Given the description of an element on the screen output the (x, y) to click on. 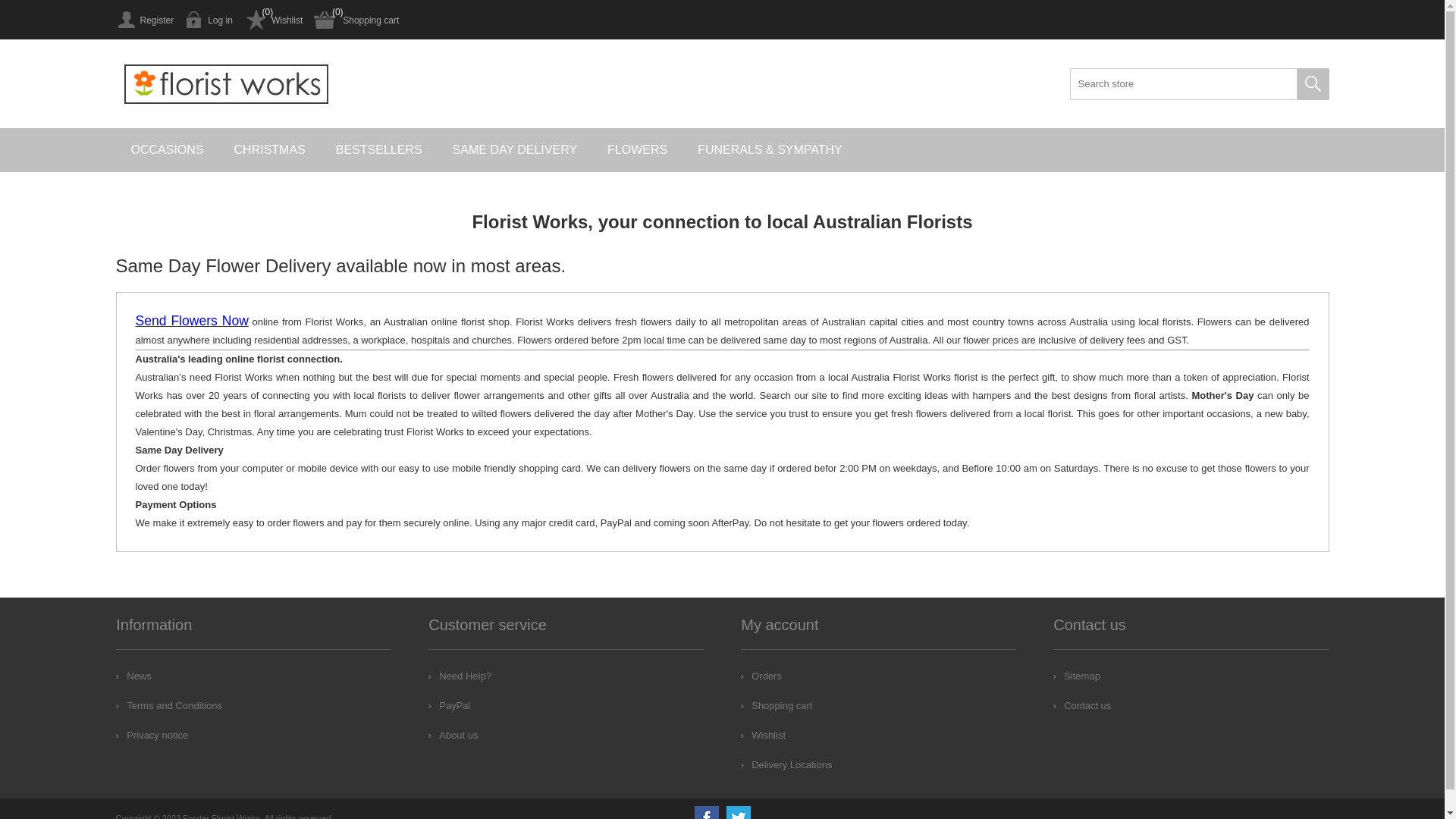
CHRISTMAS Element type: text (269, 150)
Terms and Conditions Element type: text (169, 705)
Wishlist Element type: text (762, 734)
Contact us Element type: text (1081, 705)
OCCASIONS Element type: text (166, 150)
Need Help? Element type: text (459, 675)
Search Element type: text (1312, 84)
Privacy notice Element type: text (152, 734)
Shopping cart Element type: text (776, 705)
Send Flowers Now Element type: text (190, 321)
Shopping cart Element type: text (355, 19)
Wishlist Element type: text (273, 19)
SAME DAY DELIVERY Element type: text (515, 150)
Delivery Locations Element type: text (785, 764)
FUNERALS & SYMPATHY Element type: text (769, 150)
FLOWERS Element type: text (637, 150)
Orders Element type: text (760, 675)
Sitemap Element type: text (1076, 675)
About us Element type: text (452, 734)
PayPal Element type: text (449, 705)
News Element type: text (133, 675)
Log in Element type: text (208, 19)
BESTSELLERS Element type: text (378, 150)
Register Element type: text (144, 19)
